Given the description of an element on the screen output the (x, y) to click on. 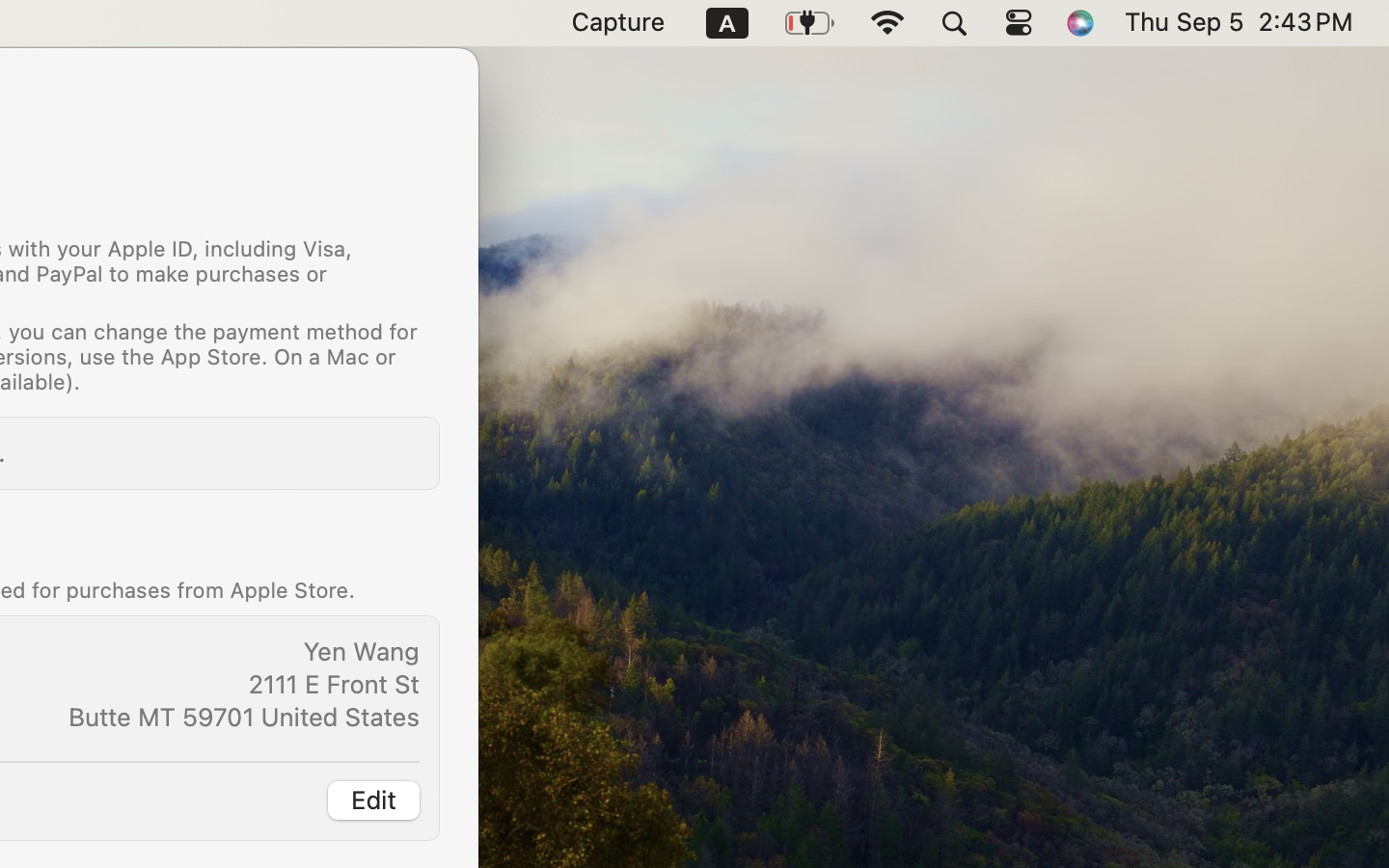
Yen Wang Element type: AXStaticText (361, 650)
Butte MT 59701 United States Element type: AXStaticText (243, 716)
2111 E Front St Element type: AXStaticText (333, 683)
